Given the description of an element on the screen output the (x, y) to click on. 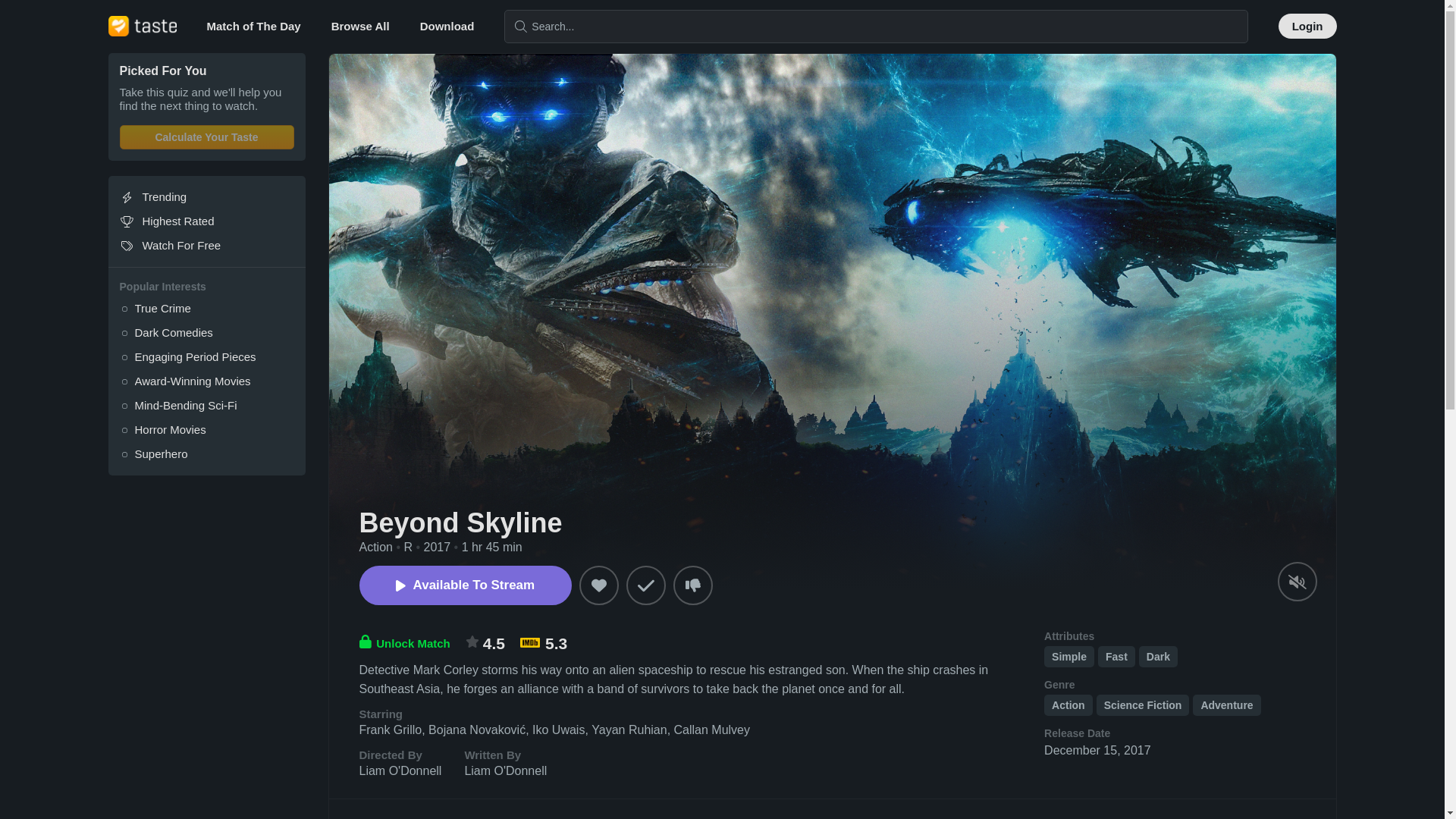
Mind-Bending Sci-Fi (205, 405)
Highest Rated (205, 221)
Horror Movies (205, 429)
Browse All (360, 26)
Calculate Your Taste (206, 137)
Watch For Free (205, 245)
Superhero (205, 454)
Trending (205, 197)
Dark Comedies (205, 332)
Match of The Day (252, 26)
Engaging Period Pieces (205, 356)
Download (447, 26)
Award-Winning Movies (205, 381)
Login (1307, 25)
True Crime (205, 308)
